Given the description of an element on the screen output the (x, y) to click on. 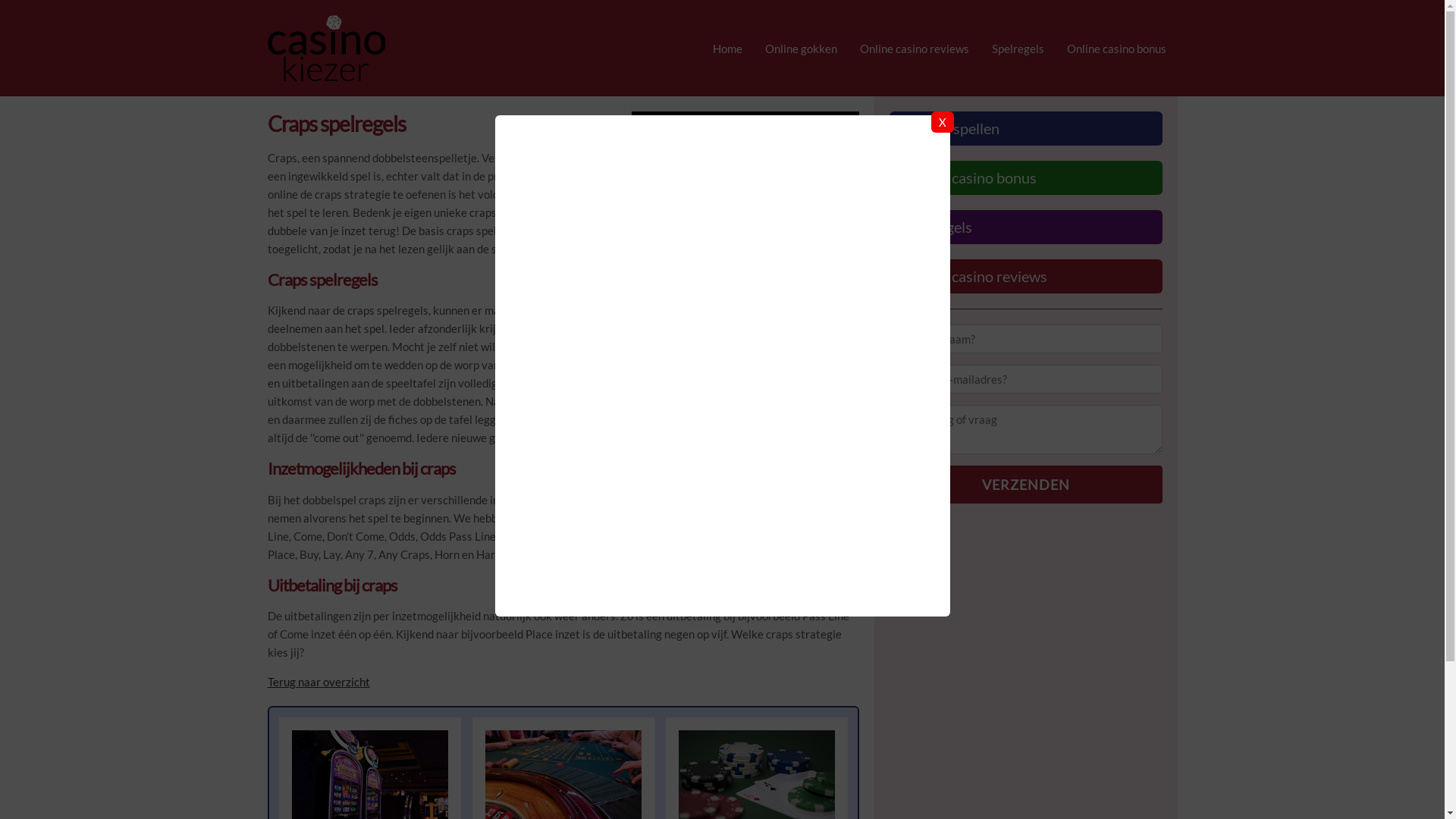
Spelregels Element type: text (1024, 227)
Online casino reviews Element type: text (1024, 276)
Terug naar overzicht Element type: text (317, 681)
Verzenden Element type: text (1024, 484)
Home Element type: text (726, 48)
Online gokken Element type: text (800, 48)
Spelregels Element type: text (1016, 48)
Casino spellen Element type: text (1024, 128)
Online casino bonus Element type: text (1024, 177)
Online casino reviews Element type: text (913, 48)
Online casino bonus Element type: text (1116, 48)
